Given the description of an element on the screen output the (x, y) to click on. 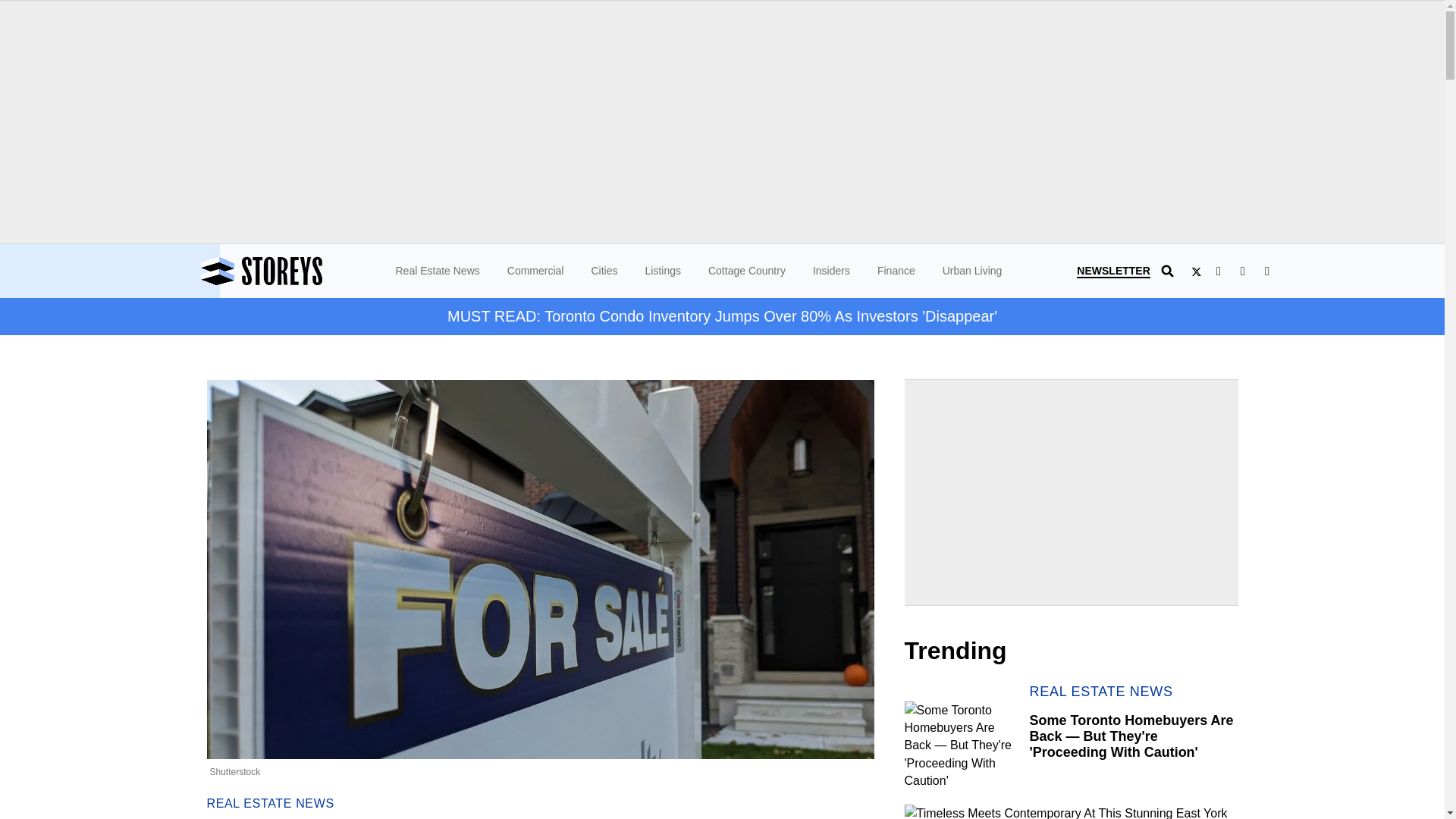
Storeys - Real Estate News in Canada (302, 270)
Cities (603, 270)
Commercial (535, 270)
Cottage Country (746, 270)
Real Estate News (437, 270)
Listings (662, 270)
